Given the description of an element on the screen output the (x, y) to click on. 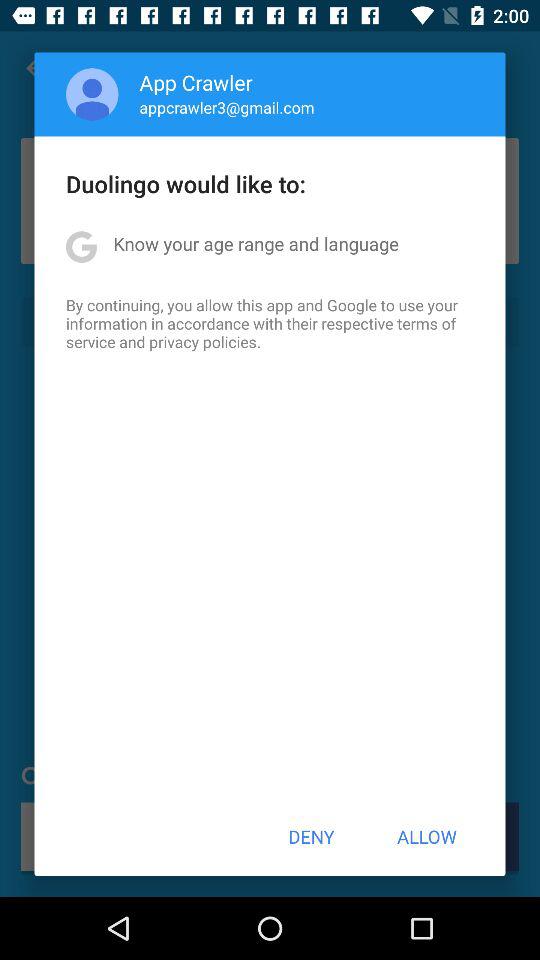
turn on deny icon (311, 836)
